Given the description of an element on the screen output the (x, y) to click on. 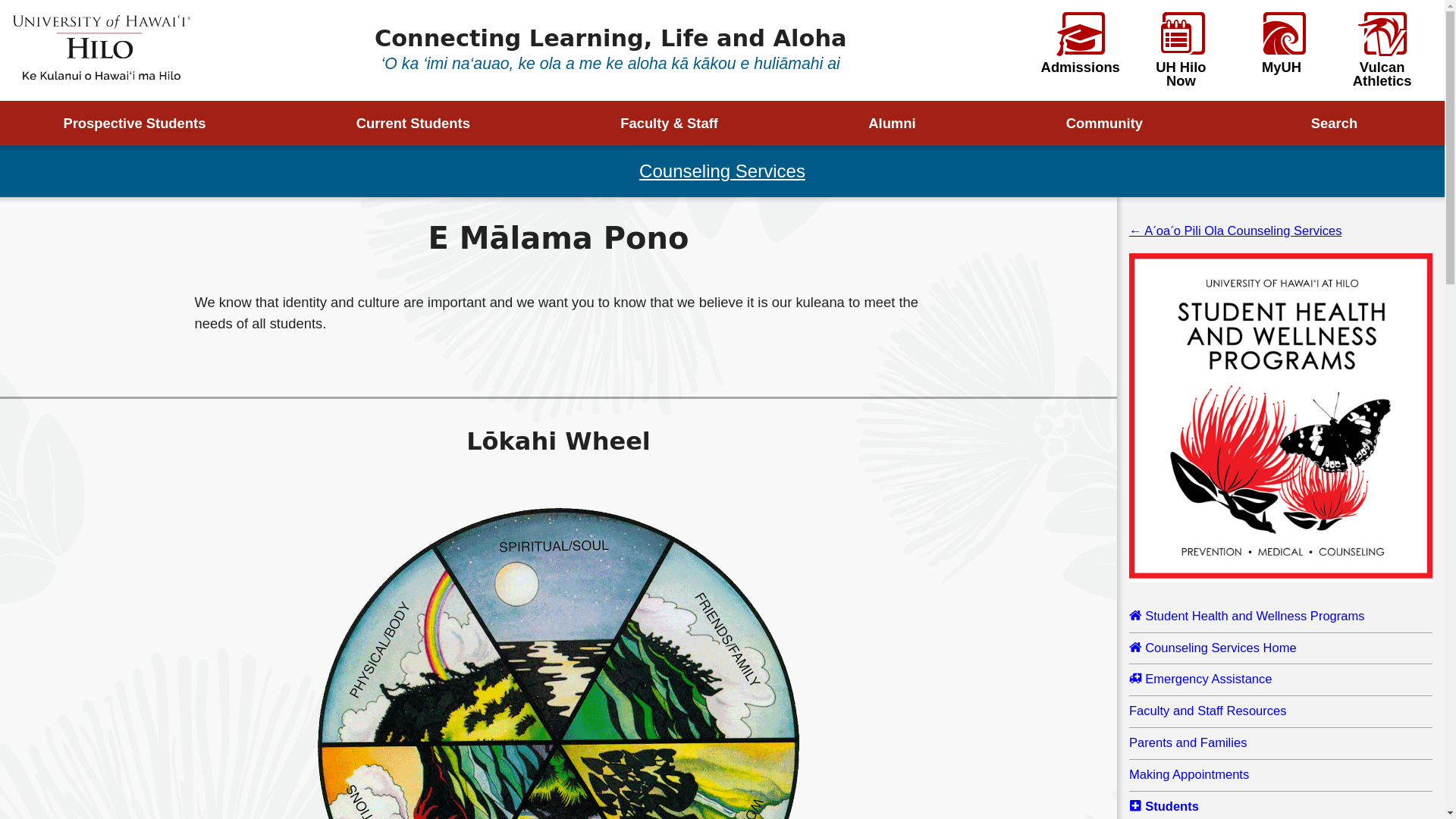
Students (1280, 806)
Alumni (904, 123)
Counseling Services Home (1280, 648)
Community (1115, 123)
Admissions (1080, 43)
Prospective Students (146, 123)
Current Students (424, 123)
Making Appointments (1280, 774)
Student Health and Wellness Programs (1280, 616)
Counseling Services (722, 170)
Vulcan Athletics (1382, 50)
MyUH (1281, 43)
UH Hilo Now (1180, 50)
Emergency Assistance (1280, 679)
